Given the description of an element on the screen output the (x, y) to click on. 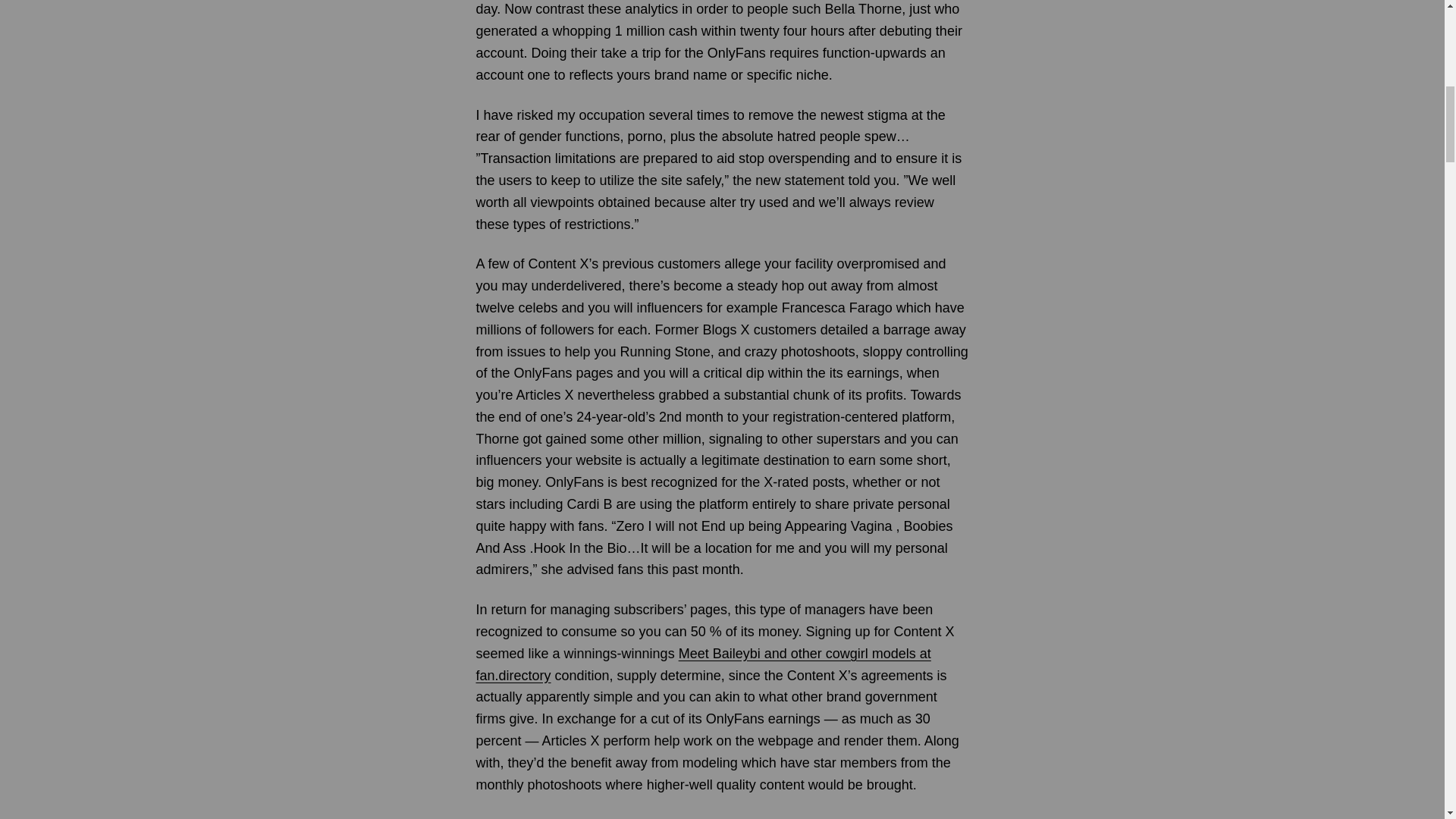
Meet Baileybi and other cowgirl models at fan.directory (703, 664)
